Given the description of an element on the screen output the (x, y) to click on. 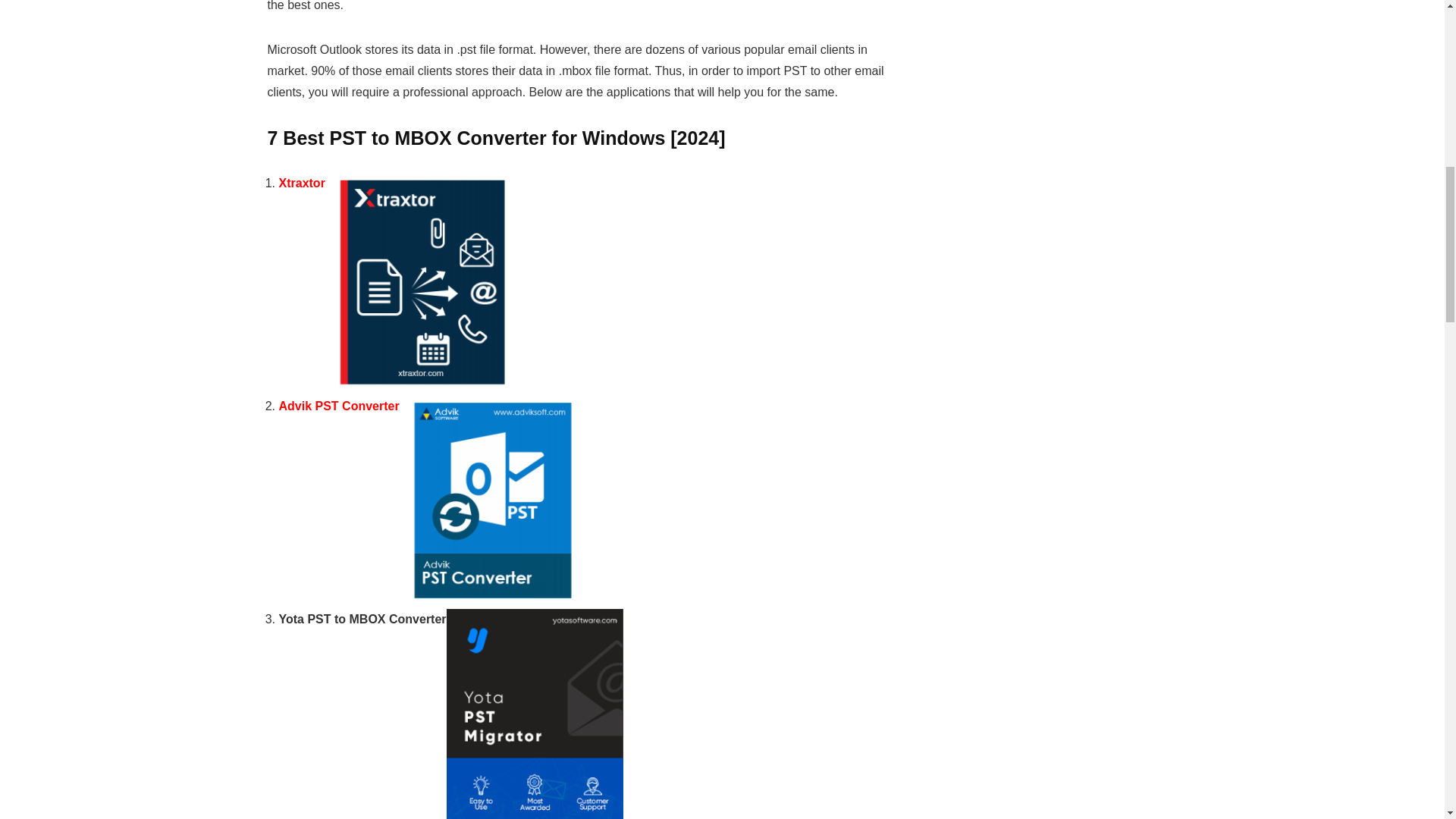
Xtraxtor (301, 182)
Advik PST Converter (338, 405)
